Given the description of an element on the screen output the (x, y) to click on. 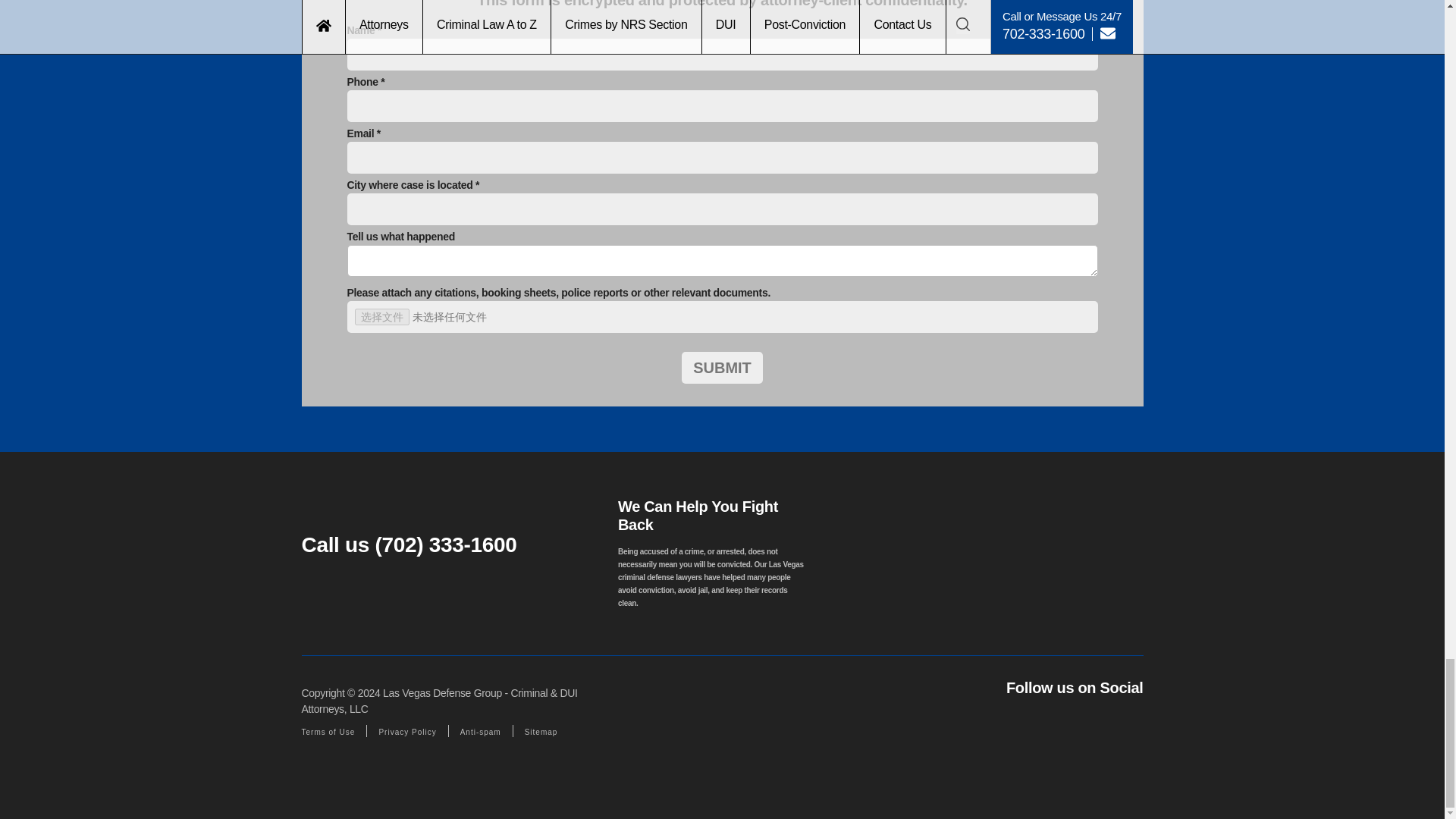
Submit (721, 368)
Submit (721, 368)
